Given the description of an element on the screen output the (x, y) to click on. 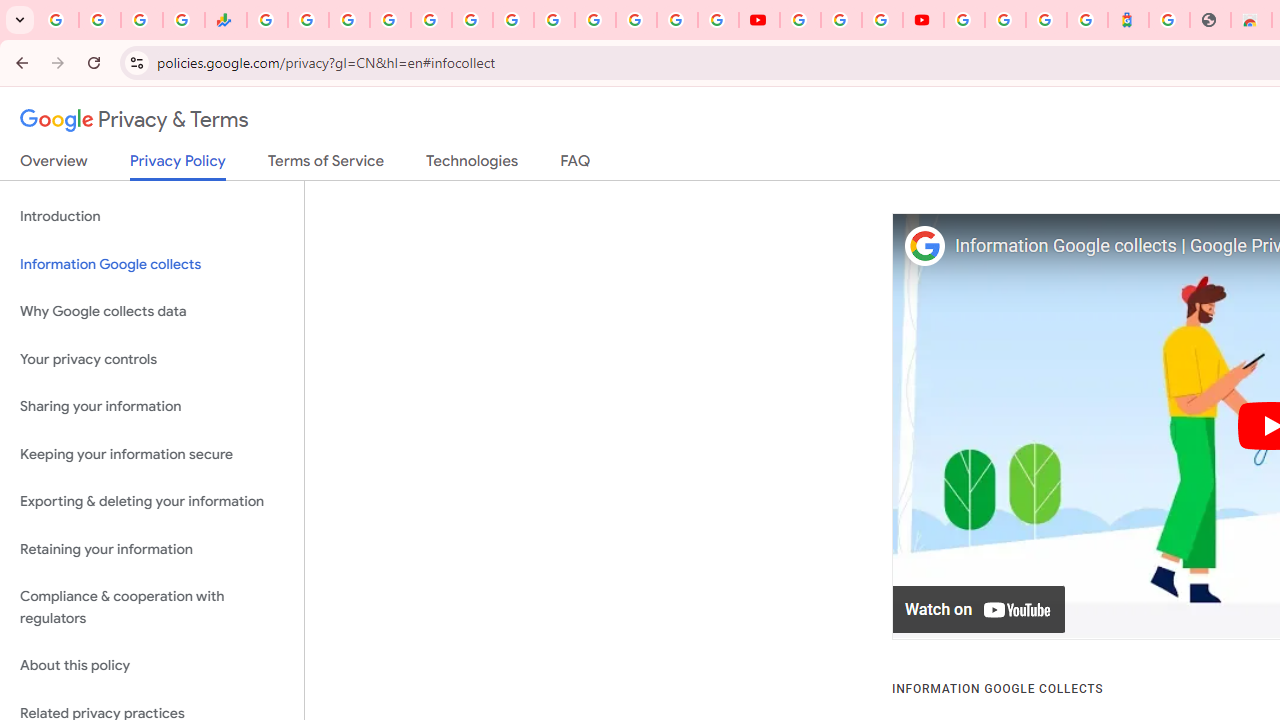
Sharing your information (152, 407)
About this policy (152, 666)
Google Workspace Admin Community (58, 20)
Sign in - Google Accounts (389, 20)
Exporting & deleting your information (152, 502)
